Given the description of an element on the screen output the (x, y) to click on. 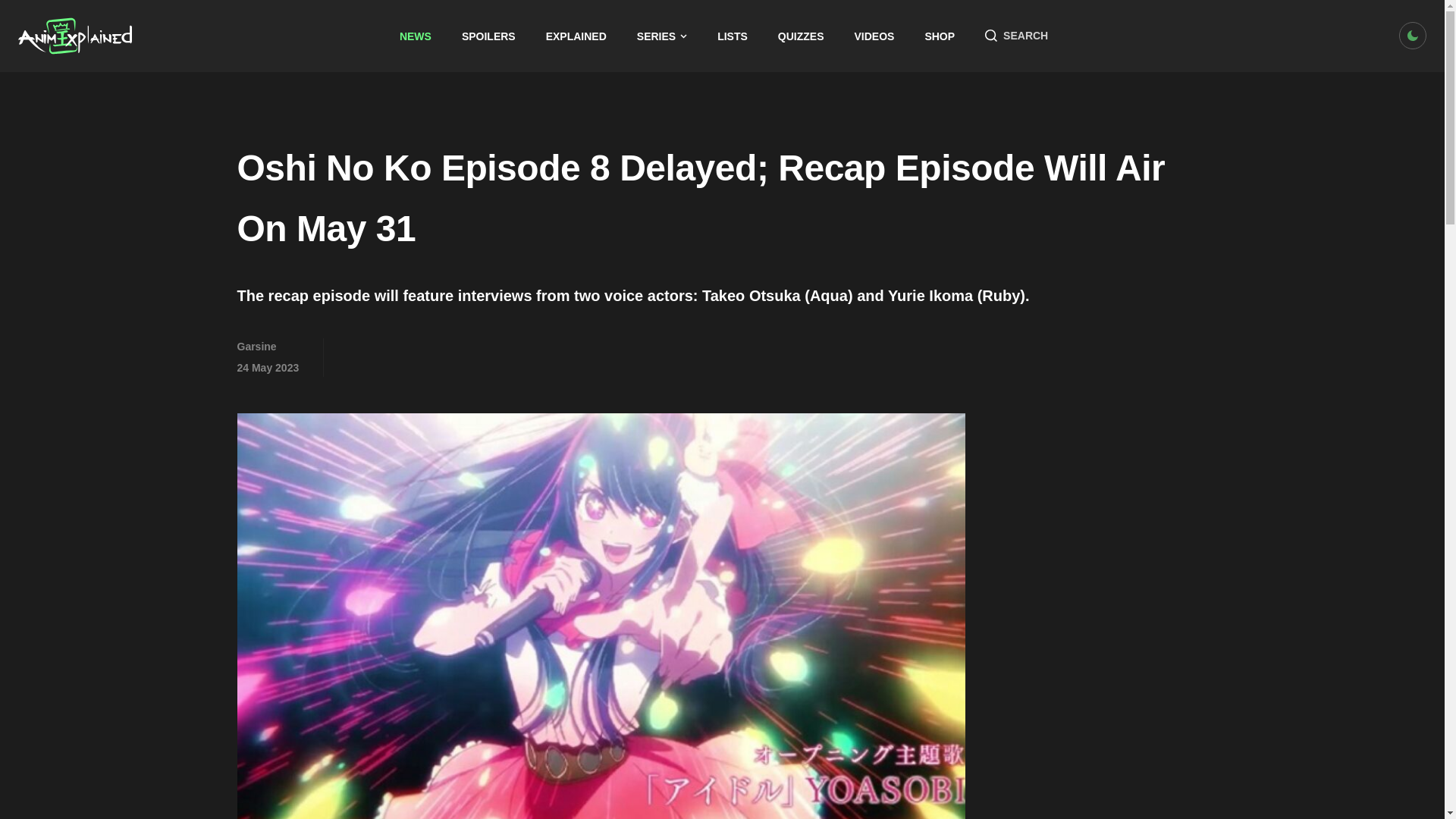
Garsine (255, 346)
NEWS (414, 36)
EXPLAINED (576, 36)
SERIES (662, 36)
VIDEOS (874, 36)
LISTS (732, 36)
SPOILERS (488, 36)
SHOP (939, 36)
QUIZZES (800, 36)
dark mode (1412, 35)
